Given the description of an element on the screen output the (x, y) to click on. 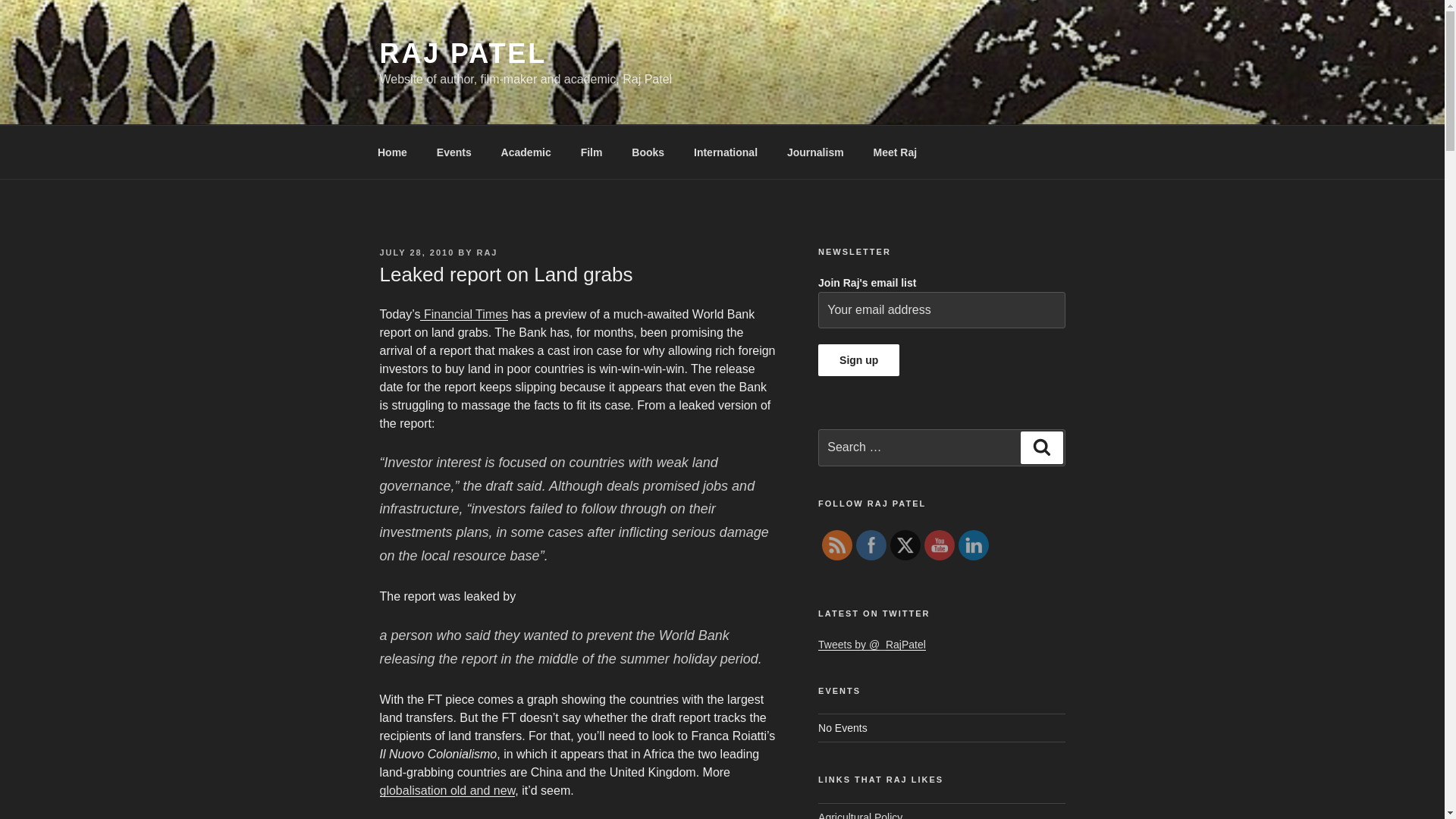
International (726, 151)
Sign up (858, 359)
RSS (836, 545)
Meet Raj (895, 151)
Academic (525, 151)
LinkedIn (973, 545)
Twitter (905, 544)
RAJ (486, 252)
Film (591, 151)
Search (1041, 447)
Home (392, 151)
Financial Times (464, 314)
Sign up (858, 359)
globalisation old and new (446, 789)
Events (453, 151)
